Given the description of an element on the screen output the (x, y) to click on. 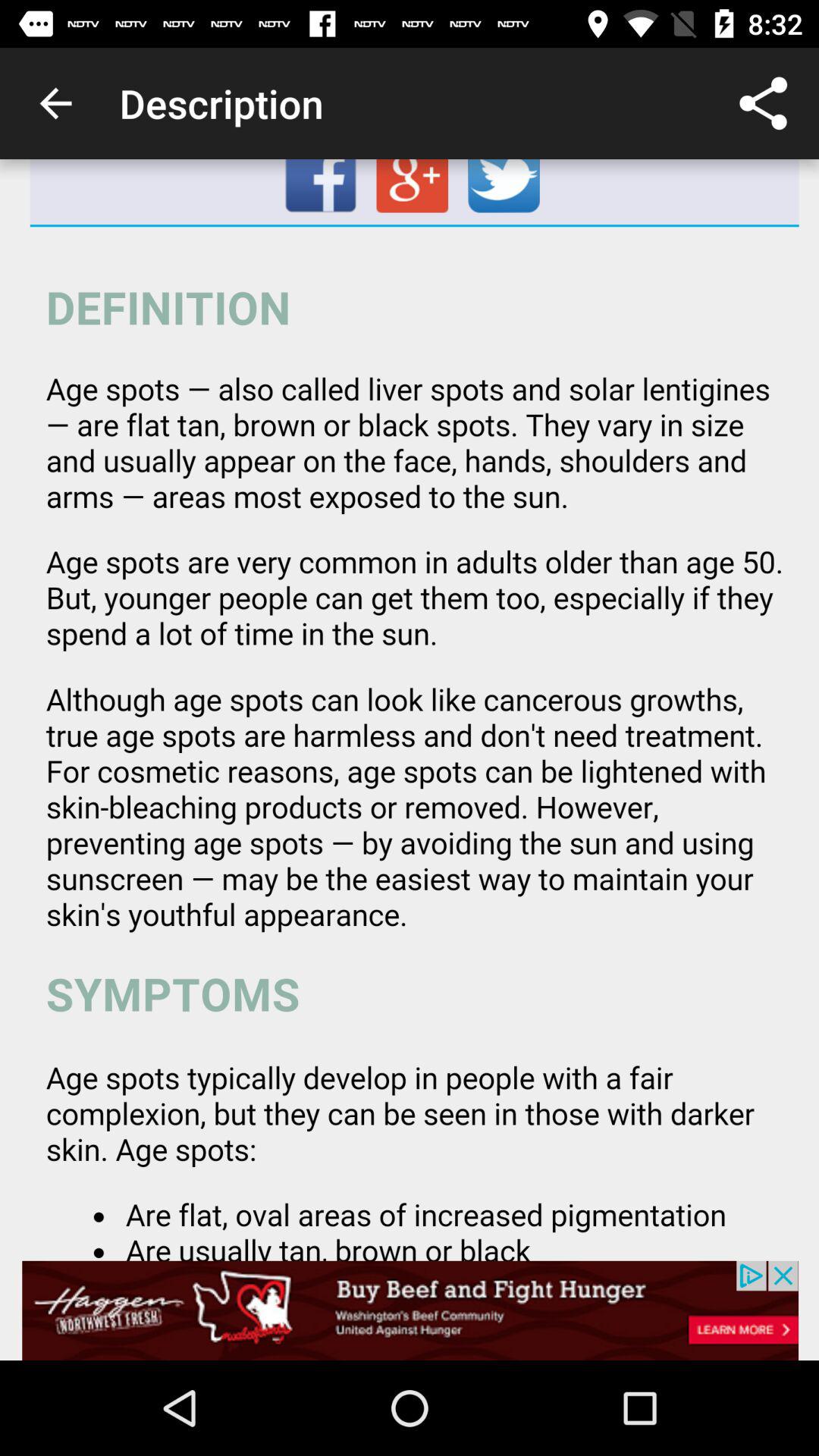
go to twitter (505, 191)
